Given the description of an element on the screen output the (x, y) to click on. 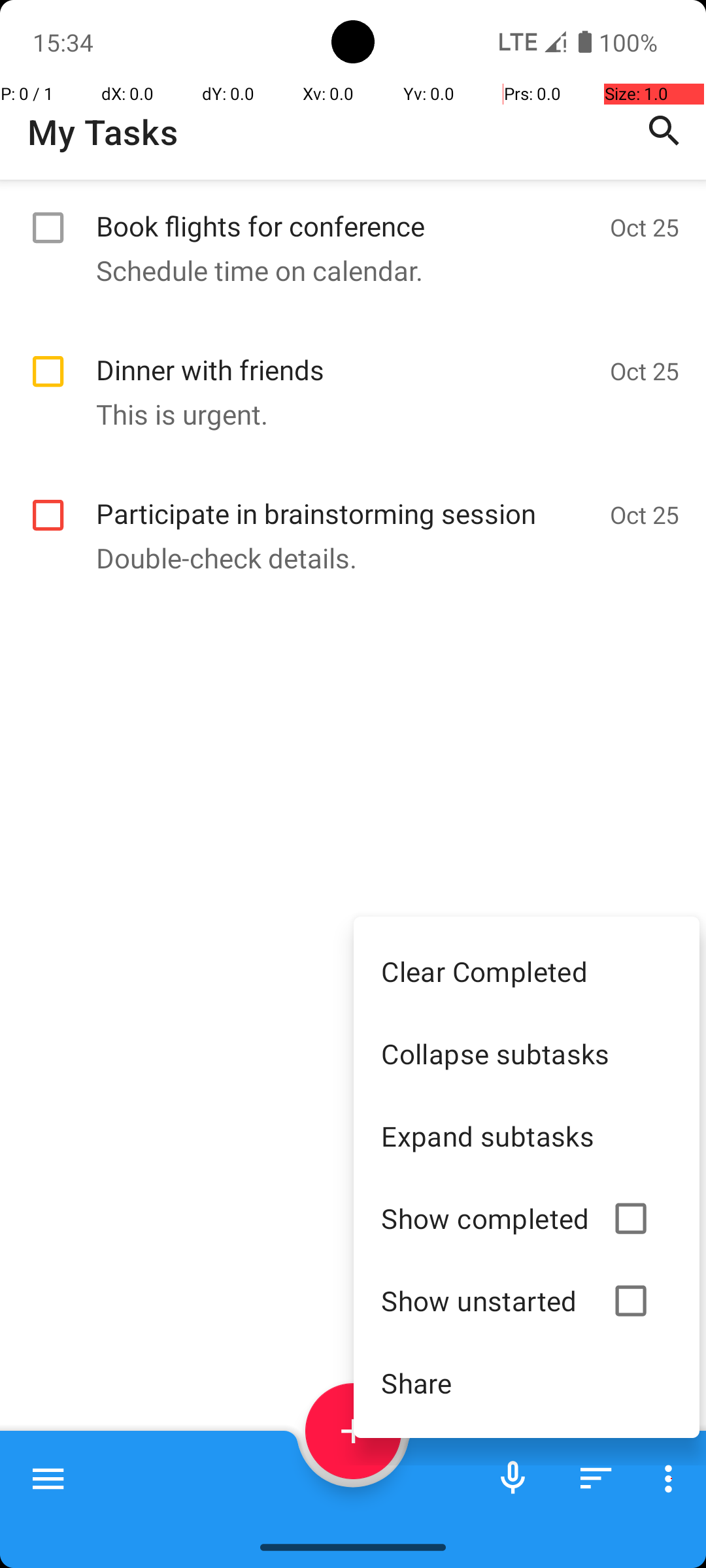
Clear Completed Element type: android.widget.TextView (526, 970)
Collapse subtasks Element type: android.widget.TextView (526, 1053)
Expand subtasks Element type: android.widget.TextView (526, 1135)
Show completed Element type: android.widget.TextView (485, 1217)
Show unstarted Element type: android.widget.TextView (485, 1300)
